Given the description of an element on the screen output the (x, y) to click on. 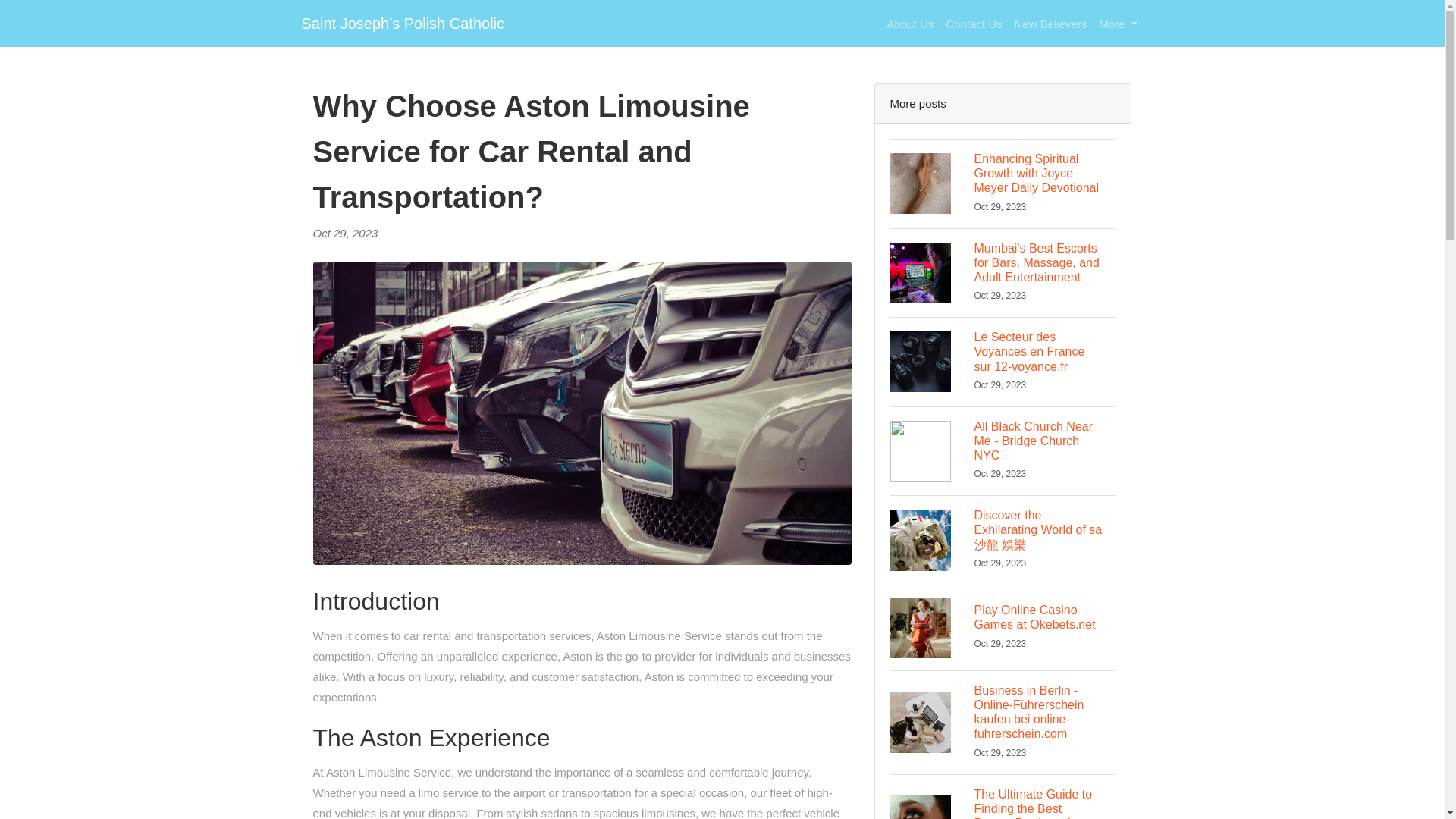
More (1117, 23)
Contact Us (973, 23)
New Believers (1050, 23)
About Us (1002, 627)
